Given the description of an element on the screen output the (x, y) to click on. 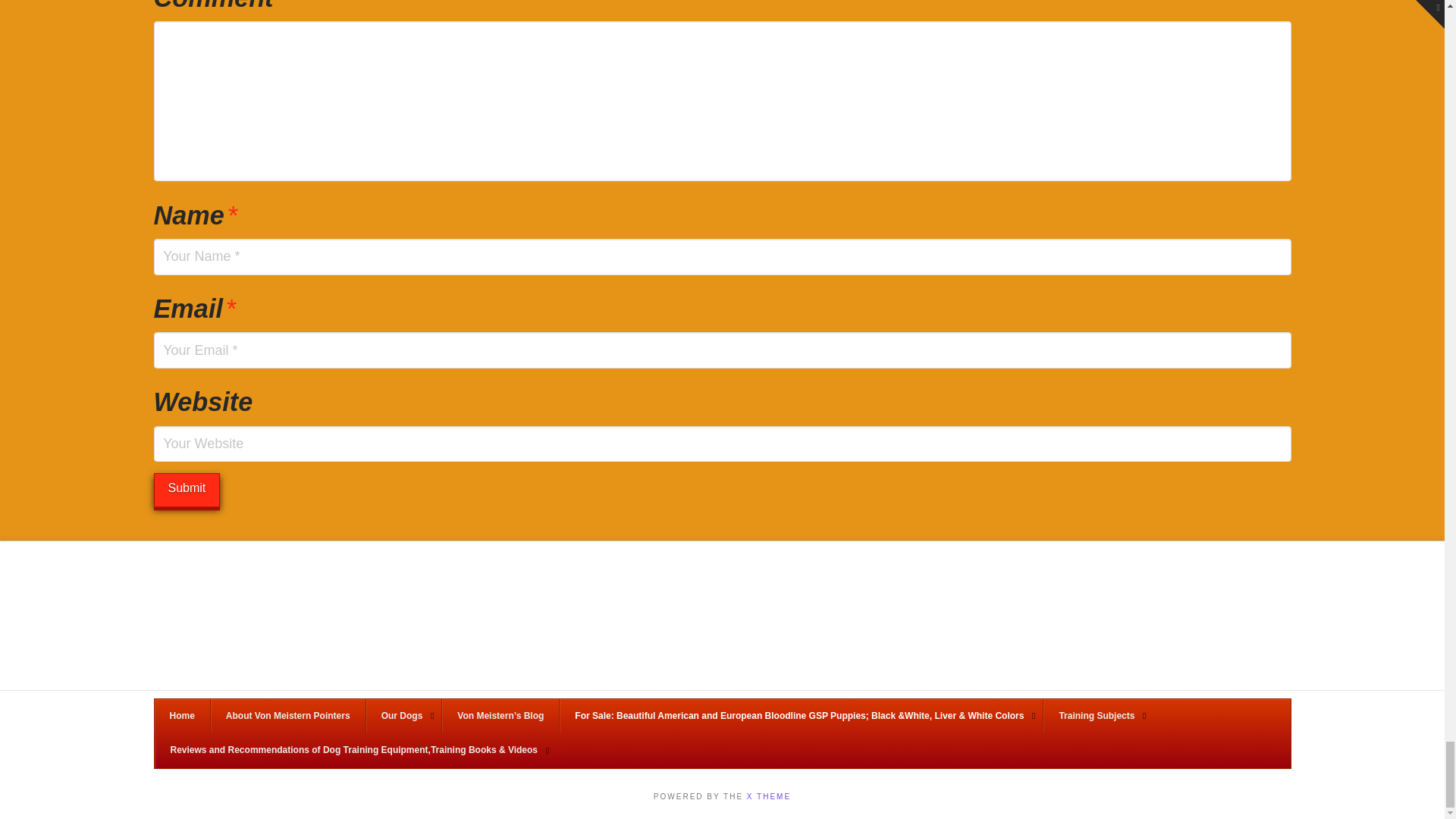
Submit (185, 489)
